Given the description of an element on the screen output the (x, y) to click on. 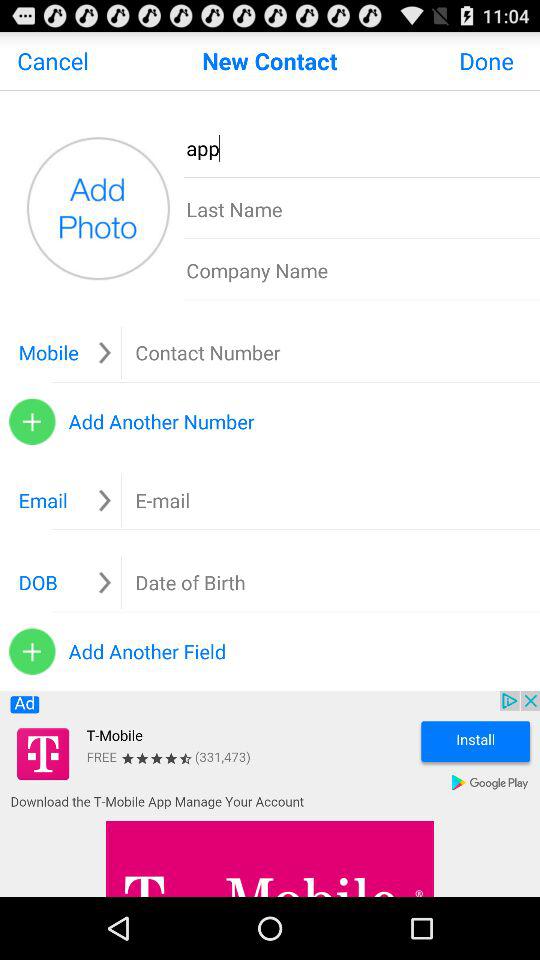
install app (270, 794)
